Given the description of an element on the screen output the (x, y) to click on. 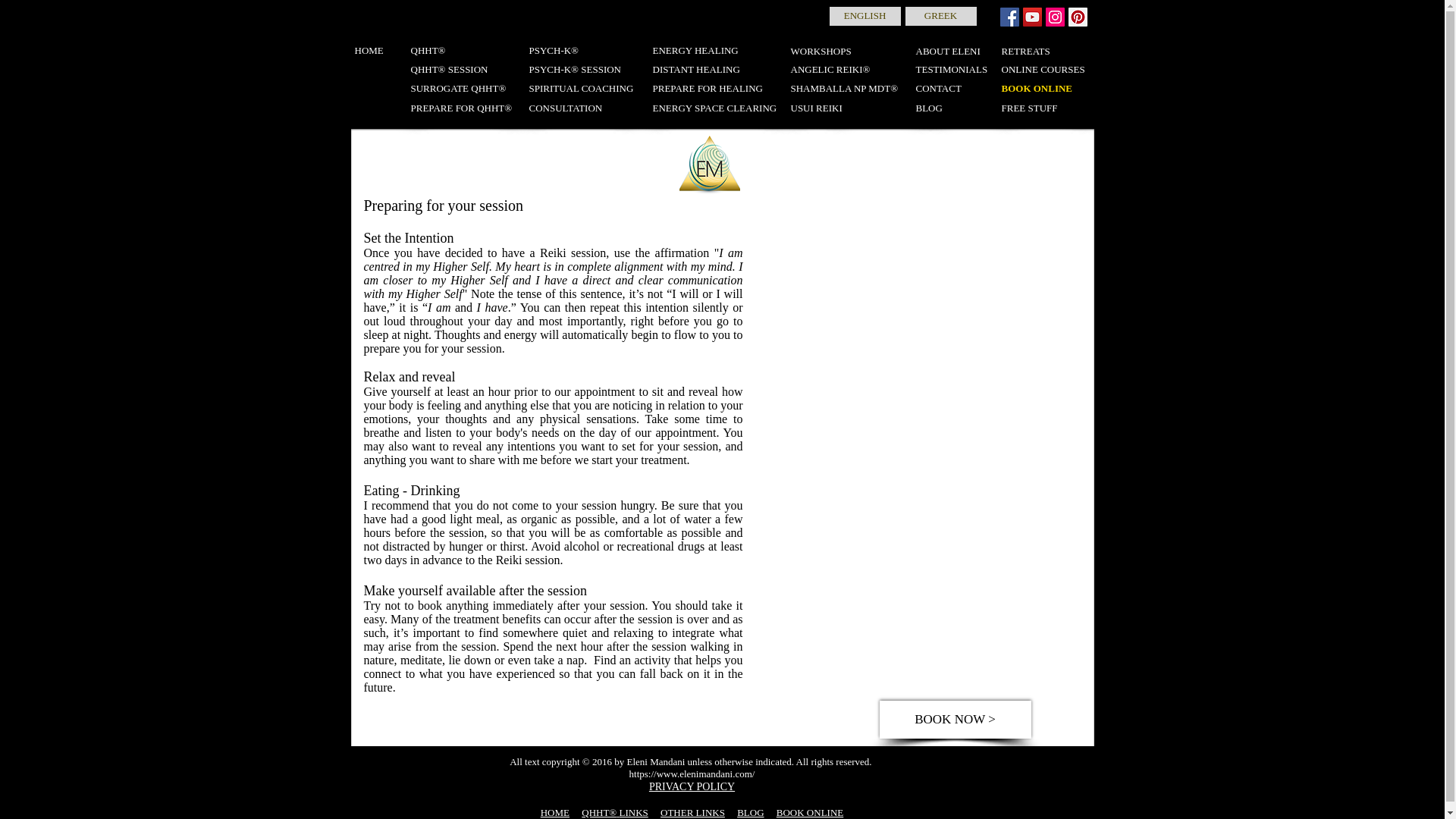
FREE STUFF (1044, 108)
ONLINE COURSES (1044, 69)
DISTANT HEALING (698, 69)
CONSULTATION (580, 108)
HOME (554, 812)
BOOK ONLINE (1036, 88)
SPIRITUAL COACHING (584, 88)
CONTACT (939, 88)
ENERGY HEALING (696, 50)
BLOG (929, 108)
